Given the description of an element on the screen output the (x, y) to click on. 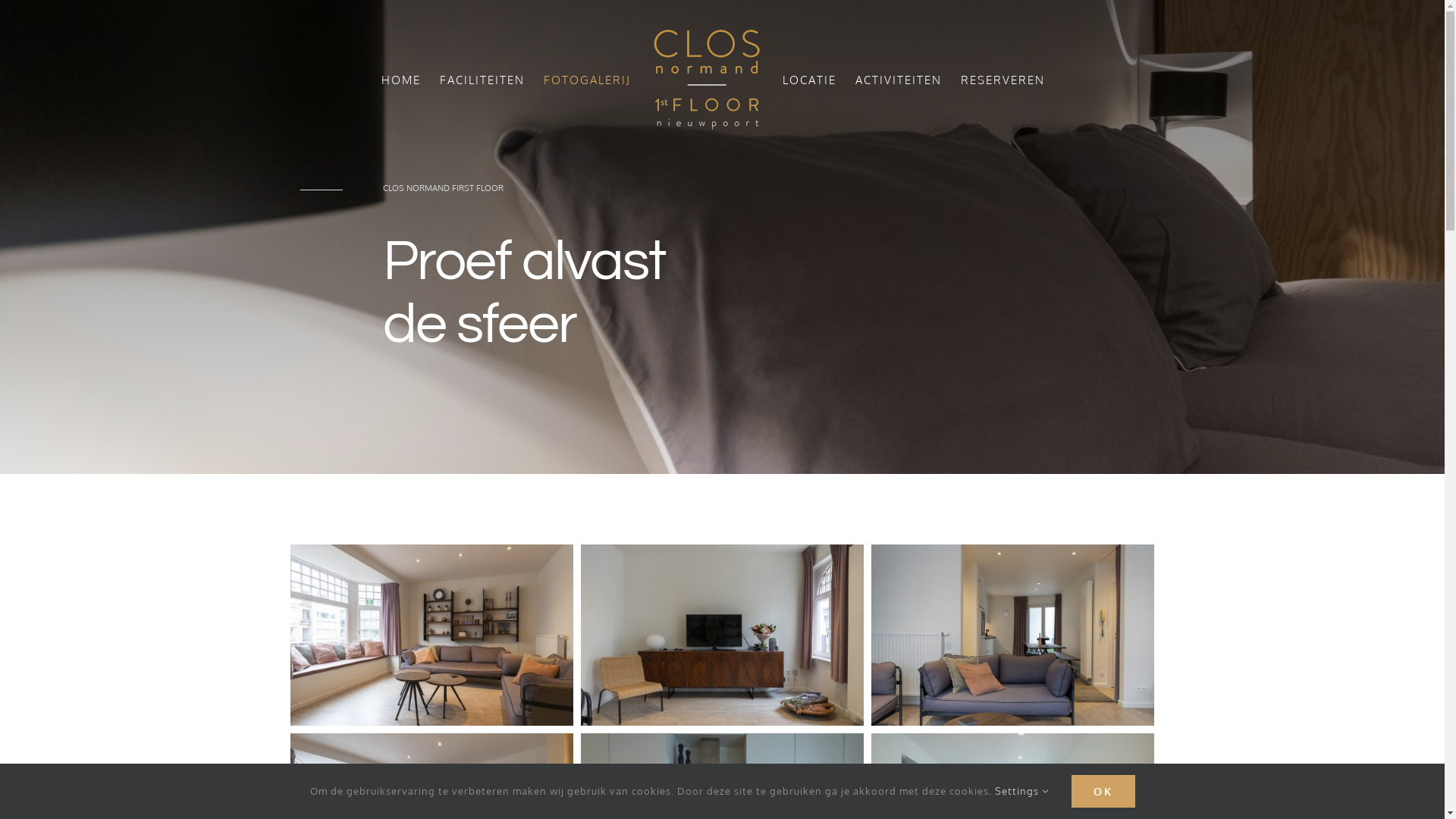
ACTIVITEITEN Element type: text (898, 79)
OK Element type: text (1102, 791)
FOTOGALERIJ Element type: text (586, 79)
IMG_0610 Element type: hover (430, 634)
IMG_0618 Element type: hover (1011, 634)
RESERVEREN Element type: text (1002, 79)
HOME Element type: text (400, 79)
IMG_0613 Element type: hover (721, 634)
LOCATIE Element type: text (809, 79)
FACILITEITEN Element type: text (481, 79)
Settings Element type: text (1021, 790)
